Given the description of an element on the screen output the (x, y) to click on. 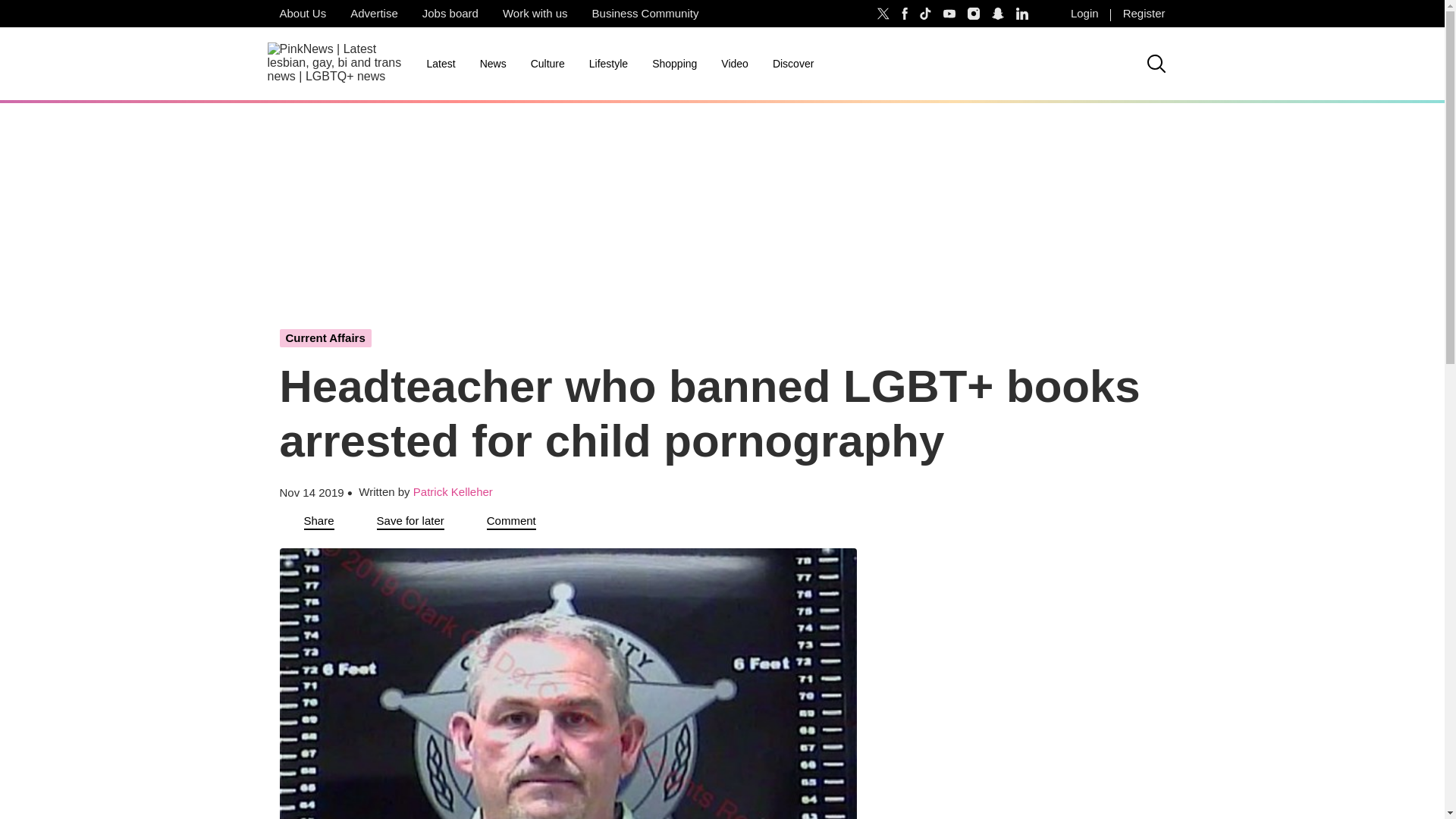
About Us (301, 13)
News (493, 63)
Business Community (645, 13)
Jobs board (450, 13)
Latest (440, 63)
Follow PinkNews on LinkedIn (1021, 13)
Lifestyle (608, 63)
Culture (547, 63)
Work with us (534, 13)
Advertise (373, 13)
Register (1143, 13)
Login (1084, 13)
